Given the description of an element on the screen output the (x, y) to click on. 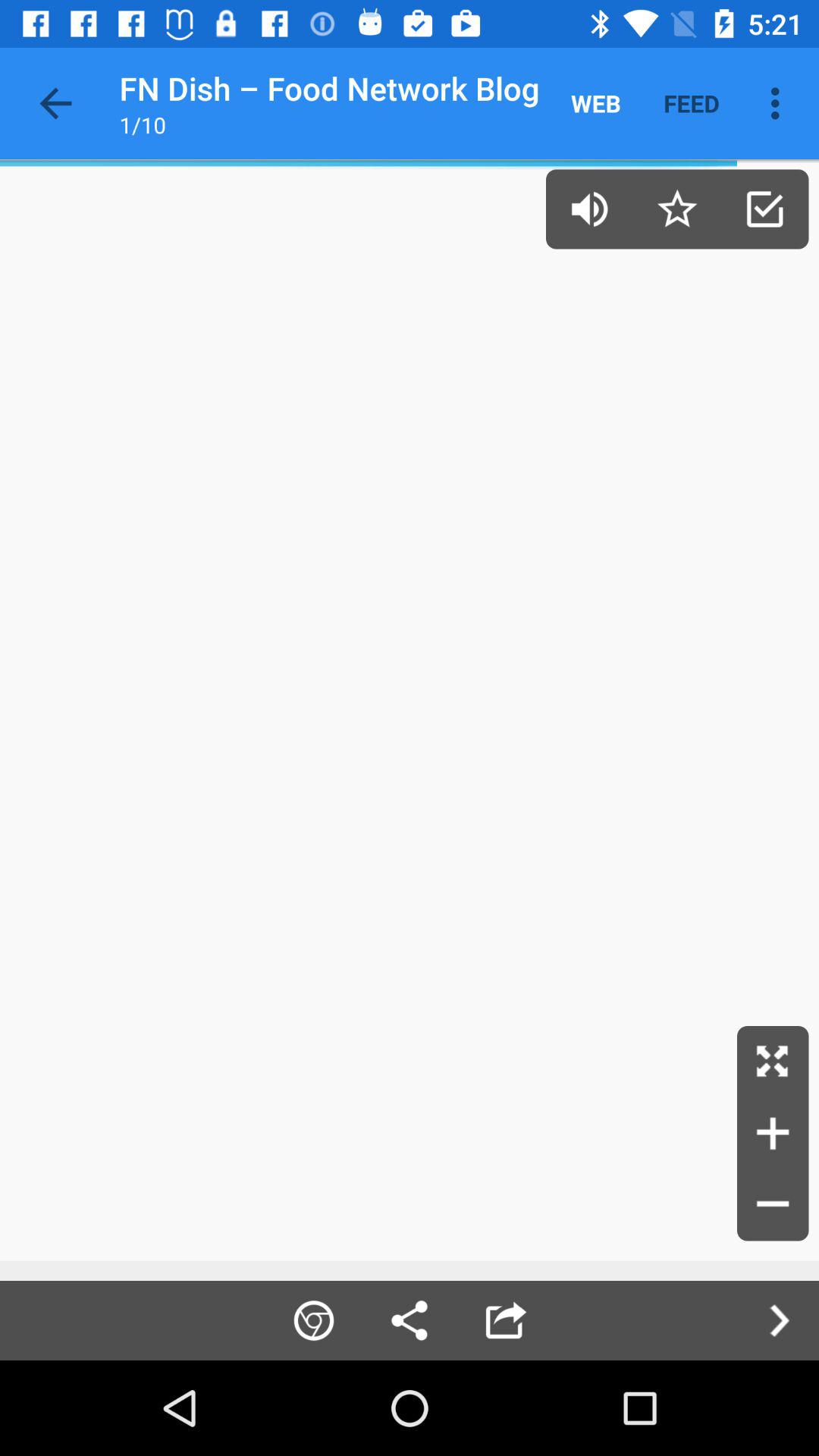
open the icon to the right of the fn dish food item (595, 103)
